Given the description of an element on the screen output the (x, y) to click on. 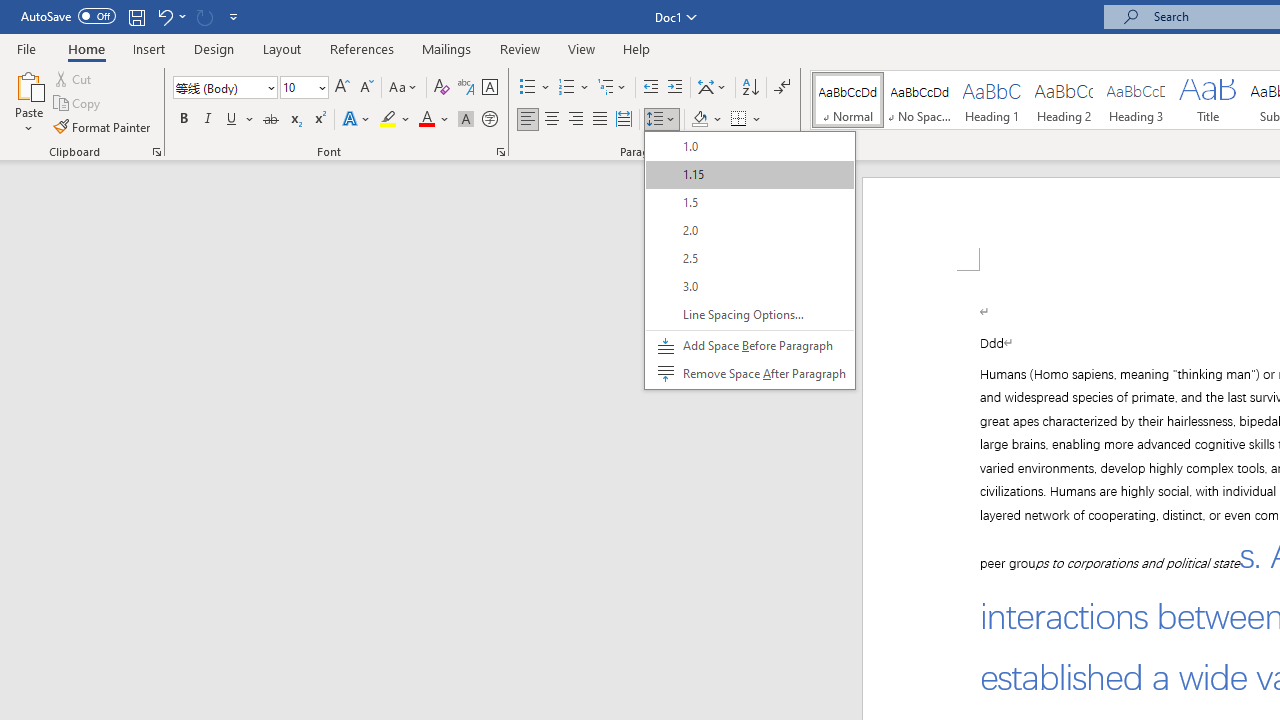
Asian Layout (712, 87)
Undo Apply Quick Style Set (164, 15)
Title (1208, 100)
Copy (78, 103)
Superscript (319, 119)
Center (552, 119)
